Given the description of an element on the screen output the (x, y) to click on. 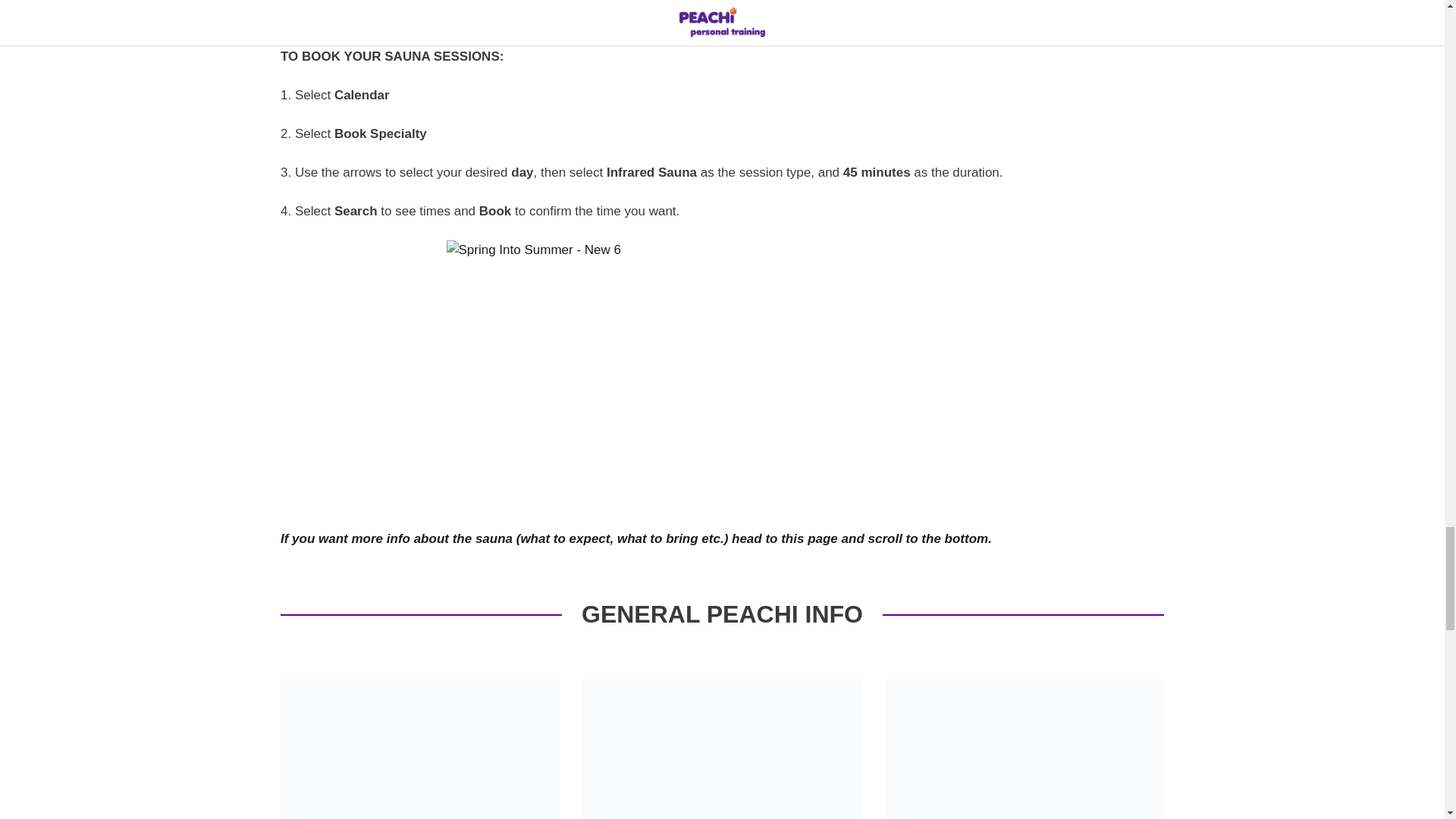
Current Webpage Tiles-9 (721, 749)
Current Webpage Tiles-7 (420, 749)
Current Webpage Tiles-8 (1024, 749)
